Given the description of an element on the screen output the (x, y) to click on. 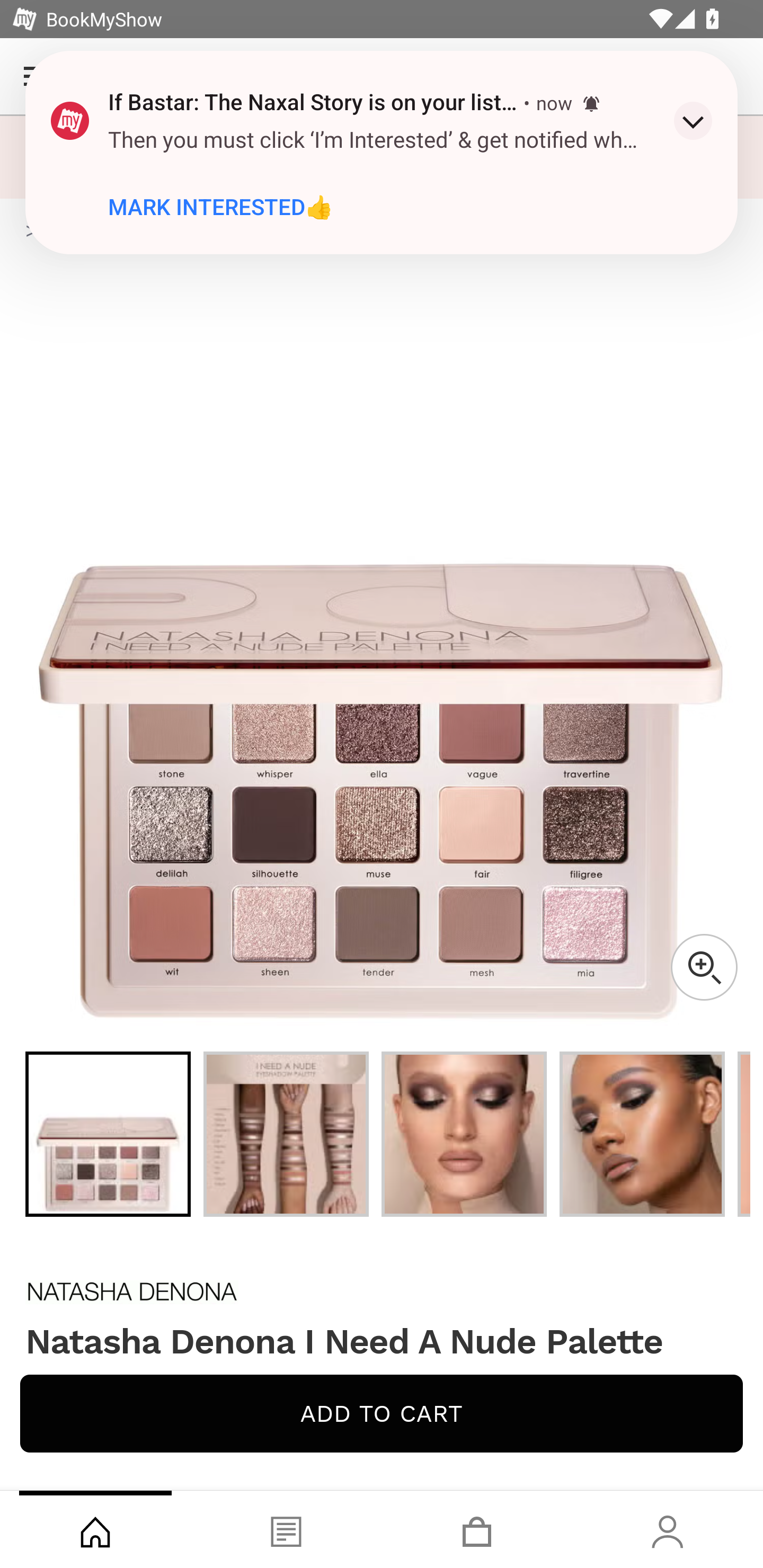
Zoom (703, 966)
Natasha Denona (381, 1291)
Add to cart (381, 1413)
Shop, tab, 1 of 4 (95, 1529)
Blog, tab, 2 of 4 (285, 1529)
Basket, tab, 3 of 4 (476, 1529)
Account, tab, 4 of 4 (667, 1529)
